Given the description of an element on the screen output the (x, y) to click on. 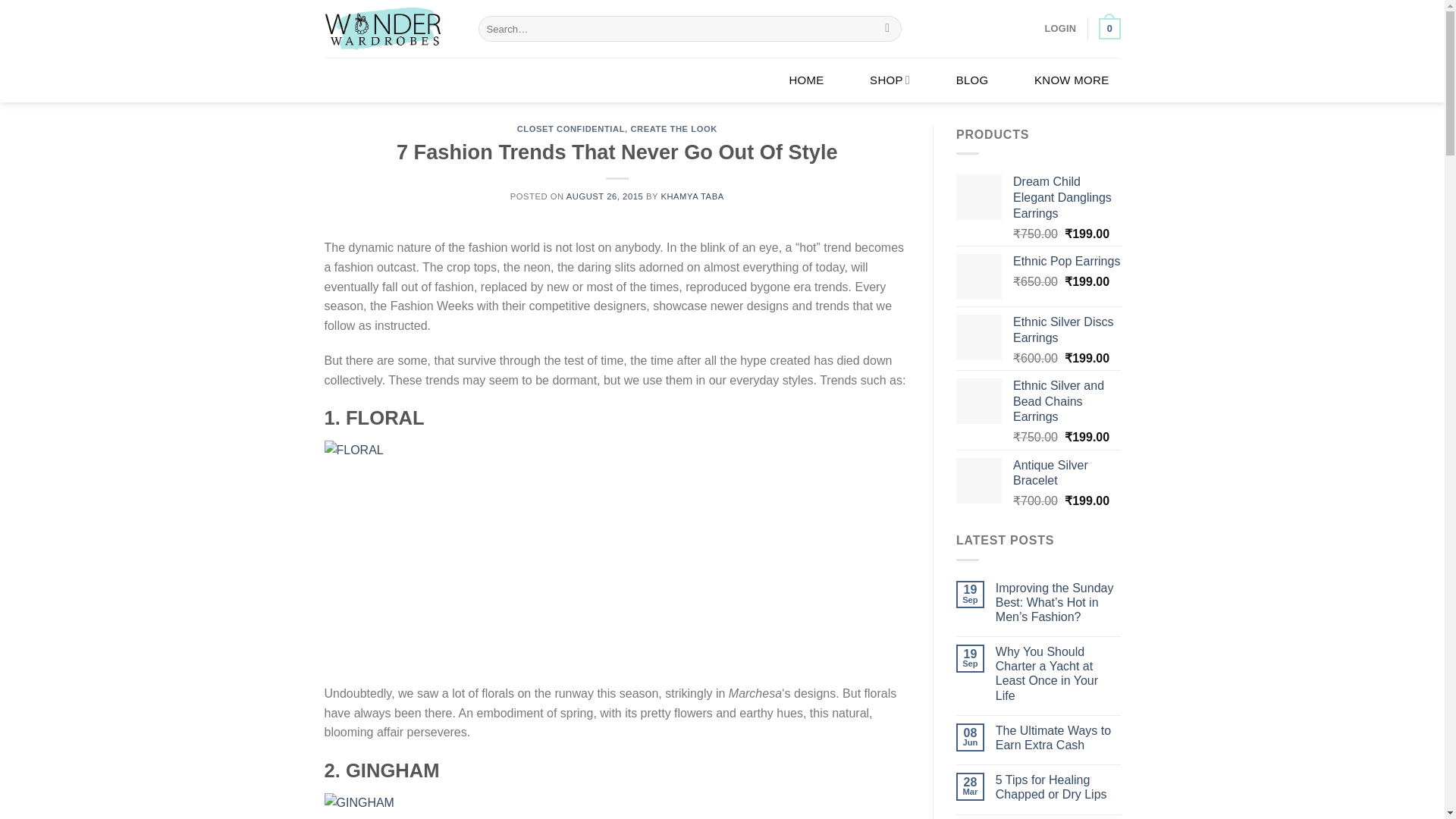
KNOW MORE (1072, 79)
Wonder Wardrobes - A story for every style! (389, 28)
HOME (805, 79)
Login (1061, 28)
LOGIN (1061, 28)
SHOP (890, 79)
CREATE THE LOOK (673, 128)
AUGUST 26, 2015 (604, 195)
Know More (1072, 79)
KHAMYA TABA (692, 195)
CLOSET CONFIDENTIAL (570, 128)
Search (887, 28)
BLOG (972, 79)
